Given the description of an element on the screen output the (x, y) to click on. 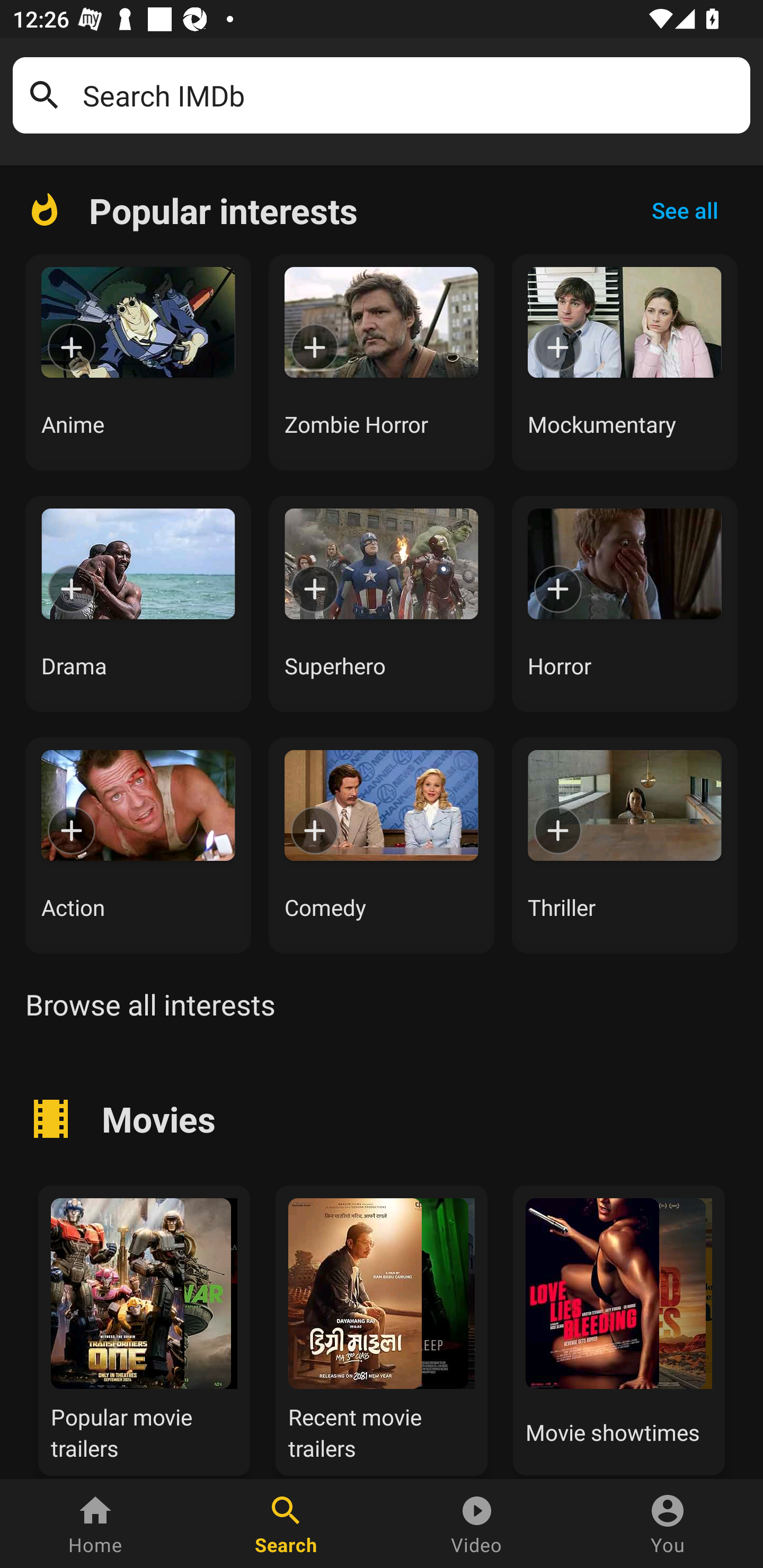
Search IMDb (410, 95)
See all (684, 209)
Anime (138, 361)
Zombie Horror (381, 361)
Mockumentary (624, 361)
Drama (138, 603)
Superhero (381, 603)
Horror (624, 603)
Action (138, 844)
Comedy (381, 844)
Thriller (624, 844)
Browse all interests (150, 1003)
Popular movie trailers (144, 1327)
Recent movie trailers (381, 1327)
Movie showtimes (618, 1327)
Home (95, 1523)
Video (476, 1523)
You (667, 1523)
